Given the description of an element on the screen output the (x, y) to click on. 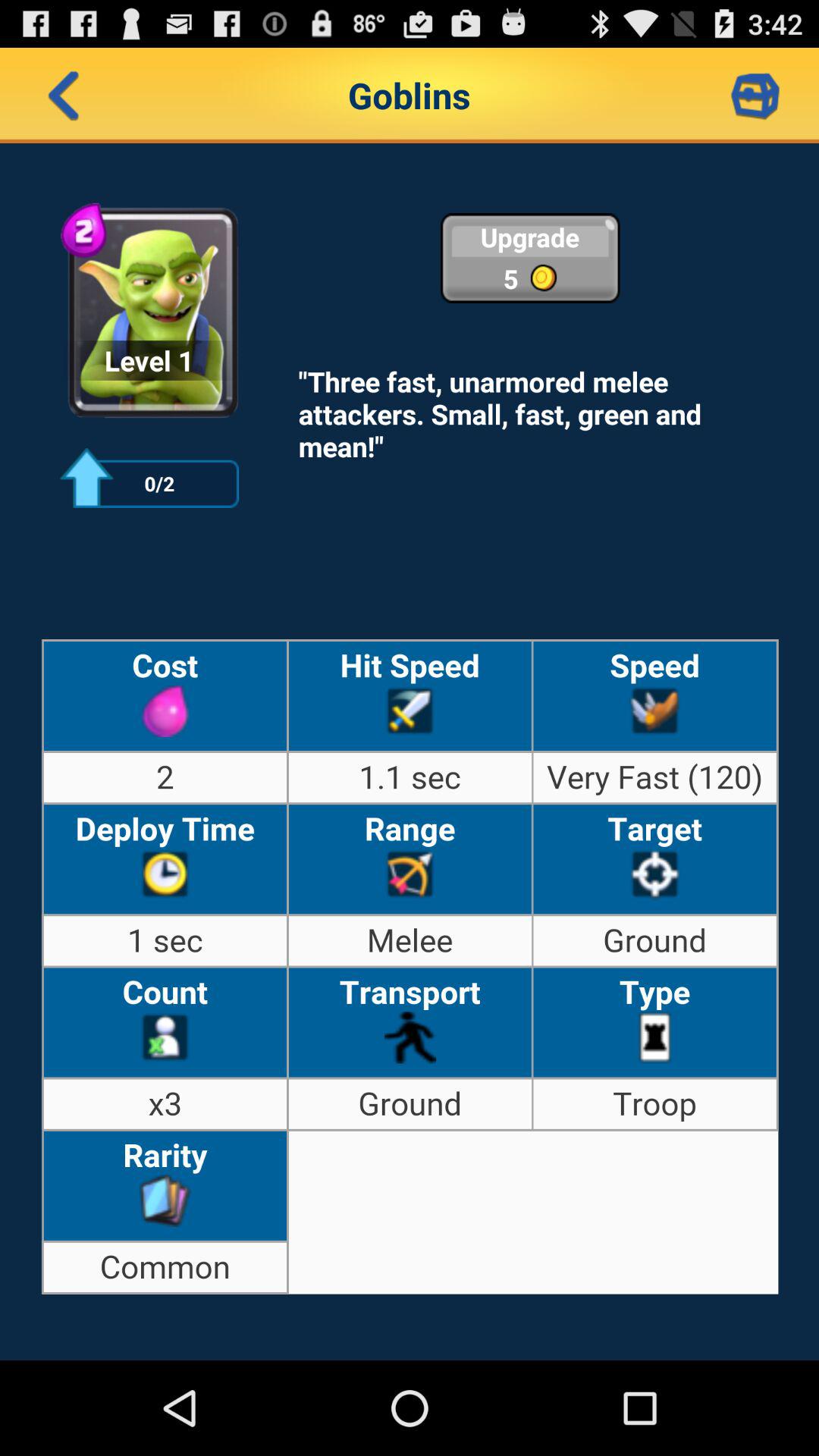
go to market (755, 95)
